Given the description of an element on the screen output the (x, y) to click on. 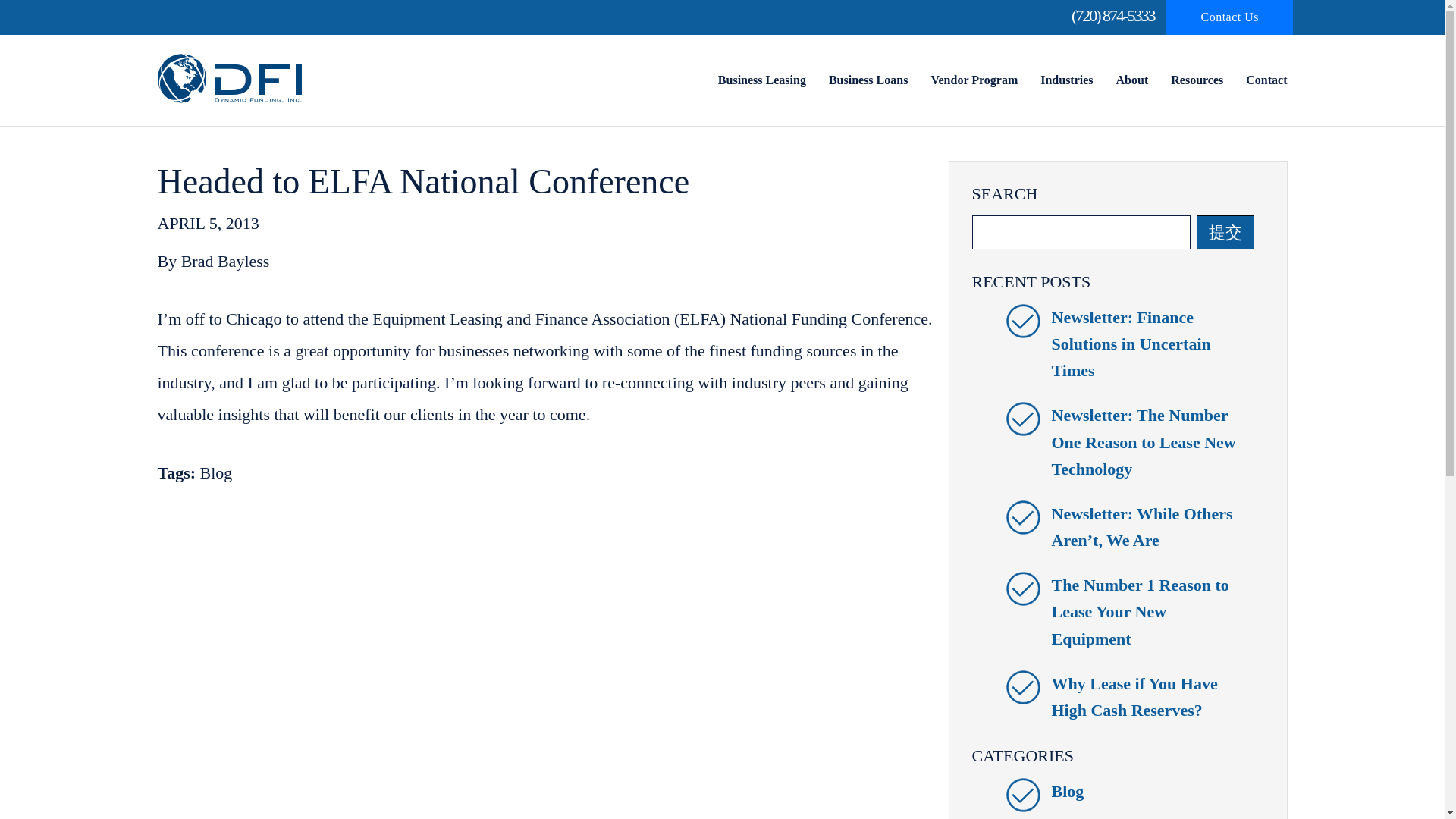
Why Lease if You Have High Cash Reserves? (1134, 696)
Business Loans (868, 79)
Industries (1067, 79)
Vendor Program (973, 79)
Business Leasing (761, 79)
Dynamic Funding (229, 78)
Blog (1067, 791)
Newsletter: The Number One Reason to Lease New Technology (1142, 441)
Resources (1196, 79)
Contact Us (1229, 17)
Contact (1266, 79)
About (1132, 79)
Newsletter: Finance Solutions in Uncertain Times (1130, 343)
The Number 1 Reason to Lease Your New Equipment (1139, 611)
